Given the description of an element on the screen output the (x, y) to click on. 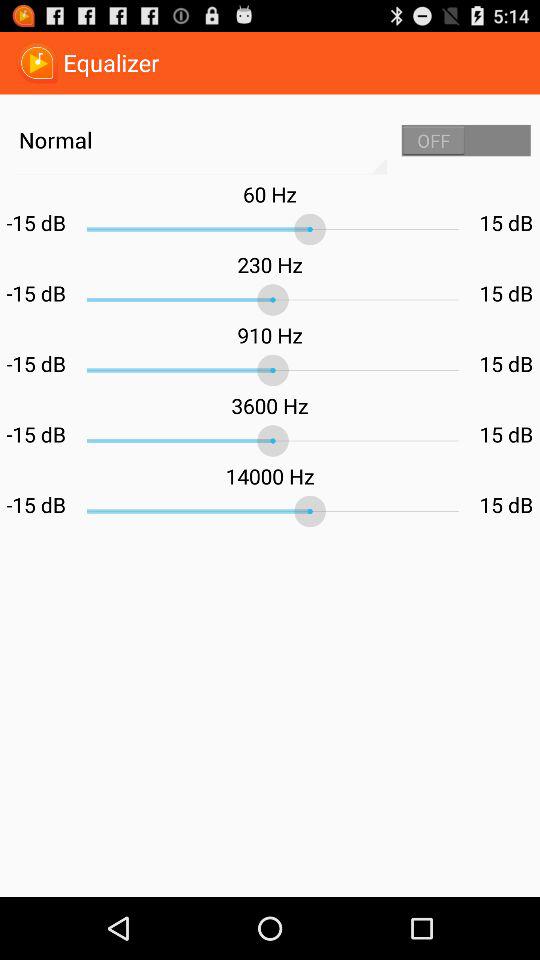
turn off the app above 60 hz app (465, 140)
